Given the description of an element on the screen output the (x, y) to click on. 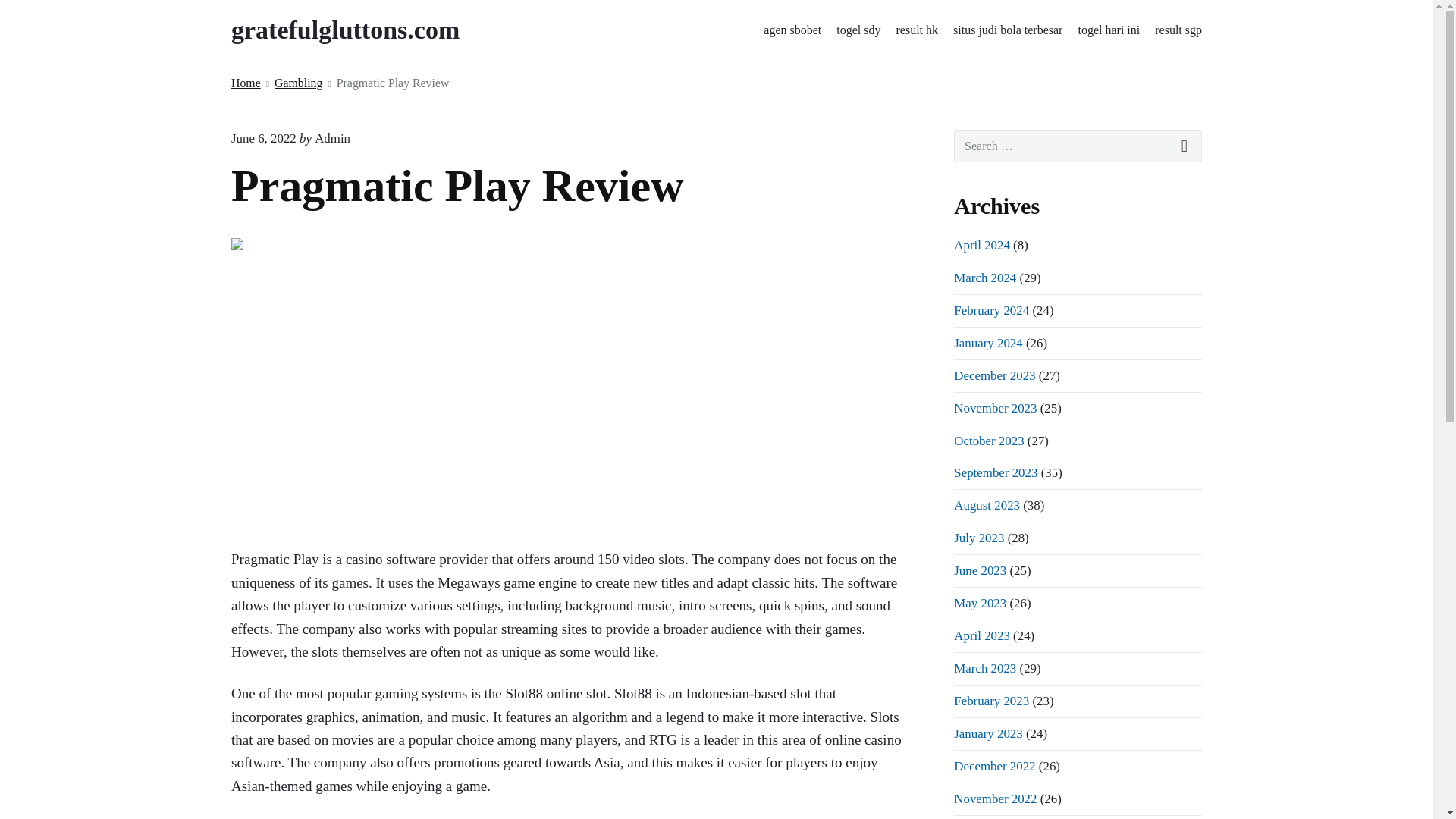
Gambling (298, 82)
SEARCH (1184, 146)
January 2024 (987, 342)
December 2022 (994, 766)
December 2023 (994, 375)
November 2023 (994, 408)
result sgp (1178, 30)
February 2024 (991, 310)
March 2024 (984, 278)
July 2023 (978, 537)
April 2023 (981, 635)
situs judi bola terbesar (1007, 30)
June 2023 (979, 570)
September 2023 (994, 472)
February 2023 (991, 700)
